Given the description of an element on the screen output the (x, y) to click on. 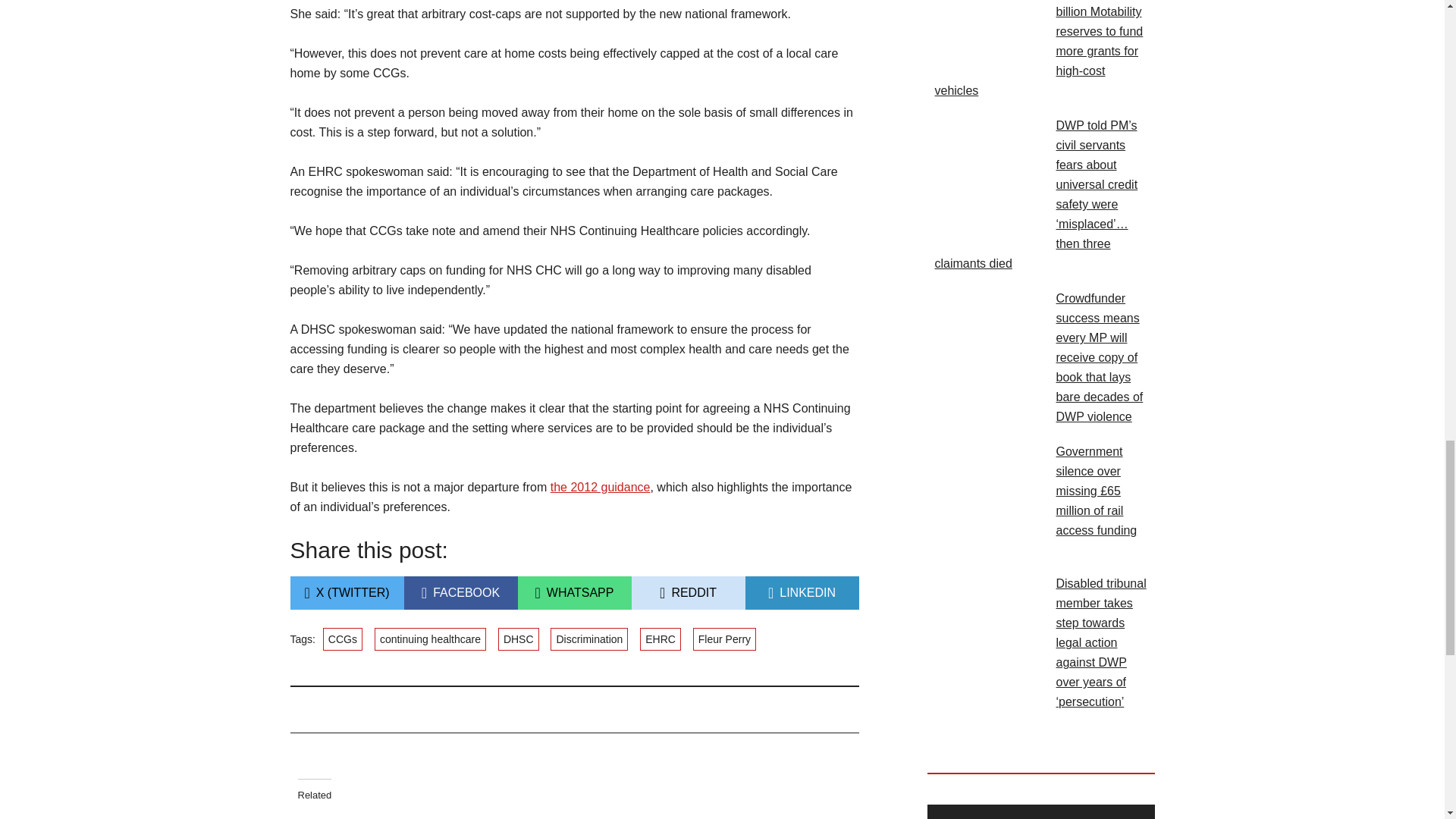
CCGs (459, 592)
the 2012 guidance (687, 592)
